Given the description of an element on the screen output the (x, y) to click on. 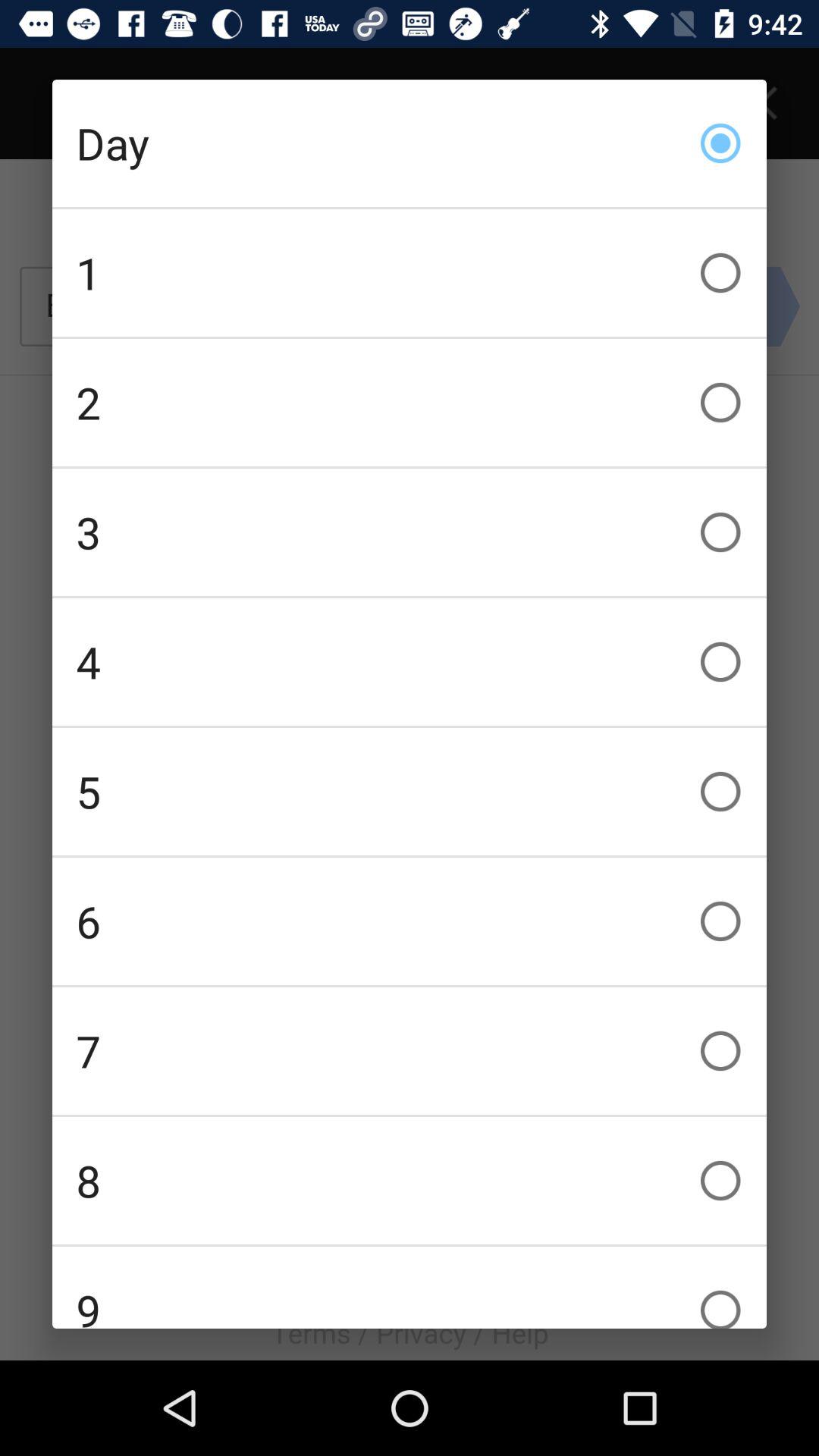
flip to day item (409, 143)
